Given the description of an element on the screen output the (x, y) to click on. 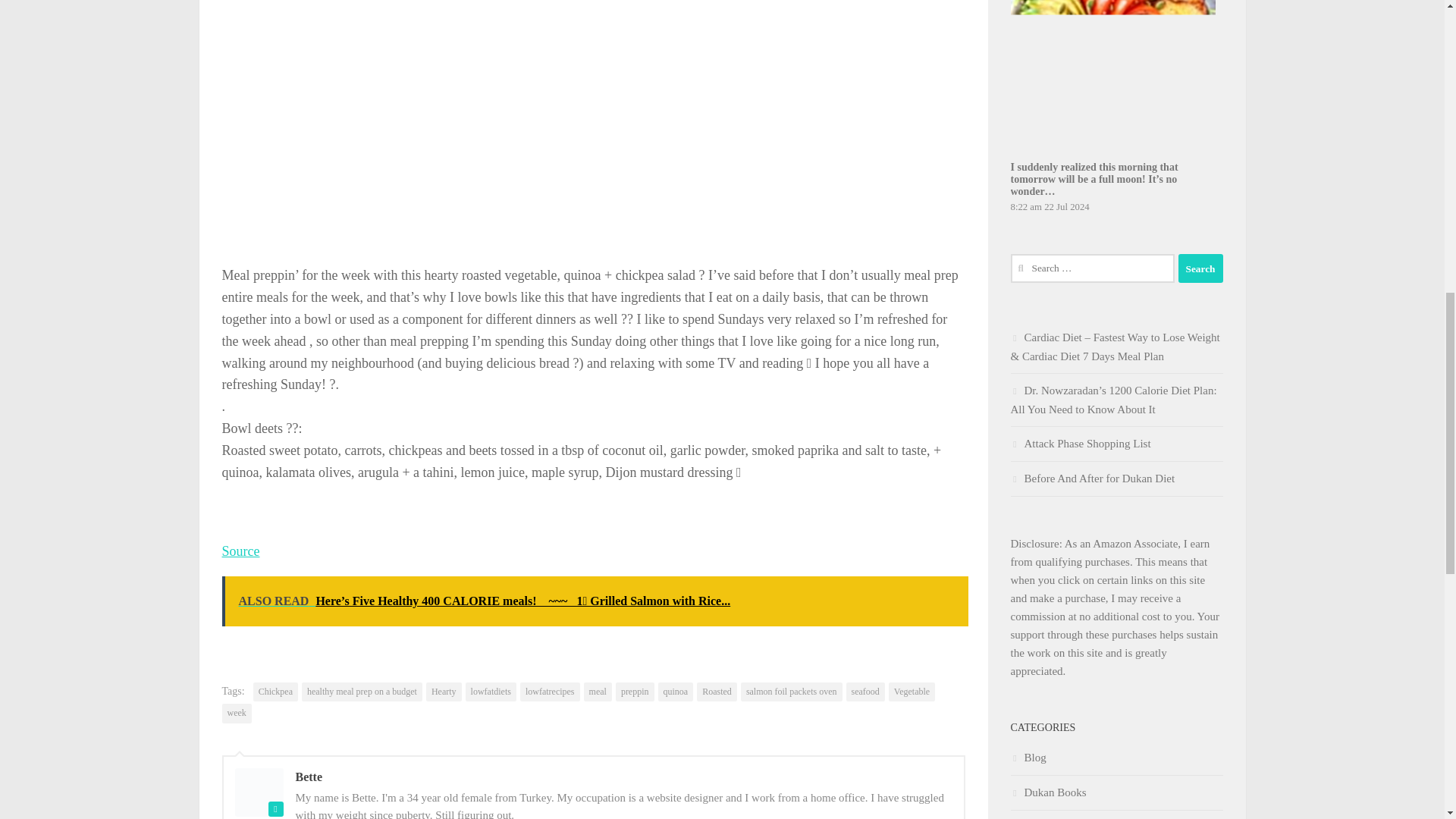
Hearty (443, 691)
week (235, 713)
healthy meal prep on a budget (361, 691)
Search (1200, 267)
salmon foil packets oven (792, 691)
lowfatrecipes (549, 691)
meal (597, 691)
Chickpea (275, 691)
quinoa (676, 691)
lowfatdiets (490, 691)
